Given the description of an element on the screen output the (x, y) to click on. 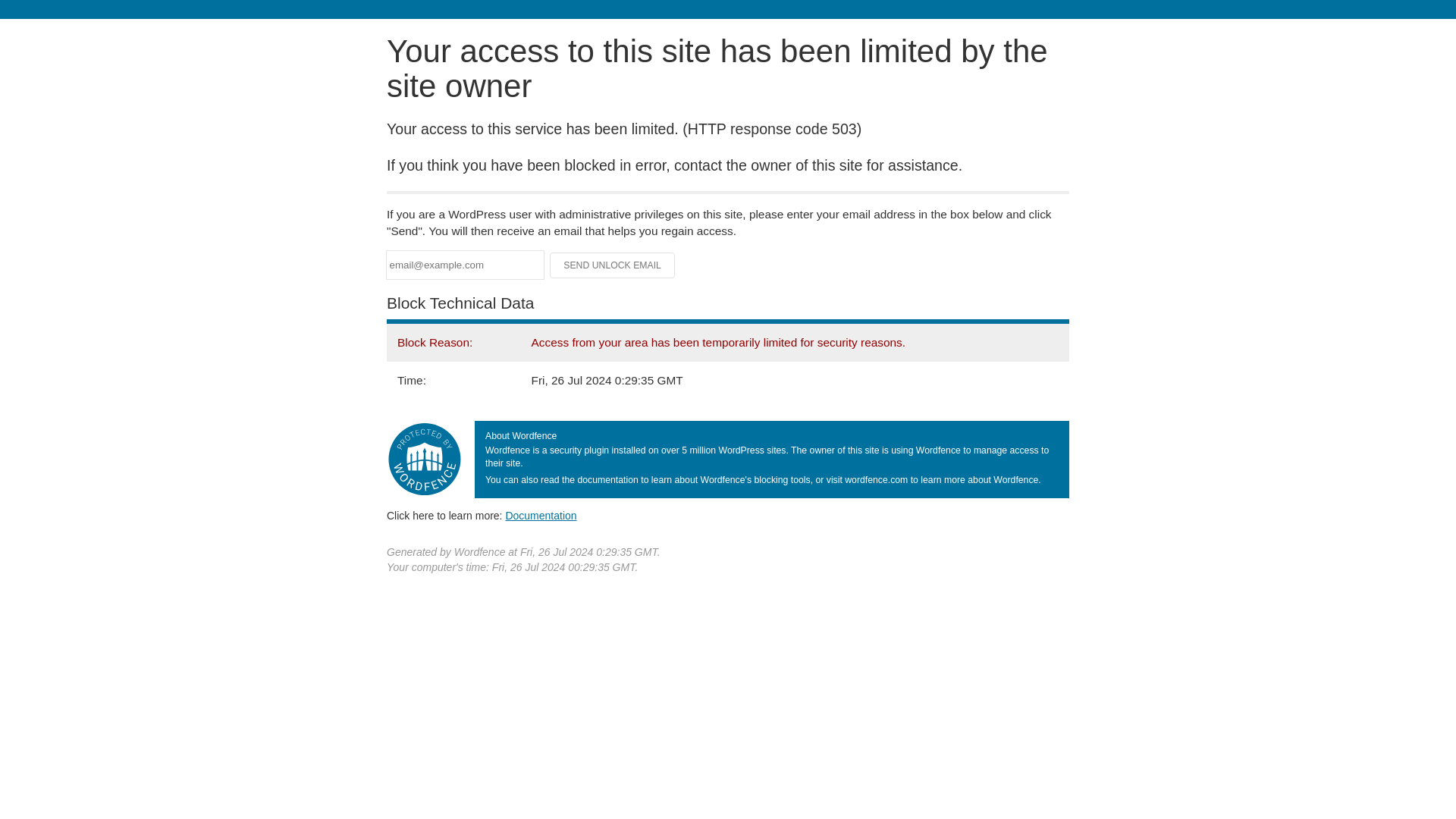
Send Unlock Email (612, 265)
Documentation (540, 515)
Send Unlock Email (612, 265)
